Given the description of an element on the screen output the (x, y) to click on. 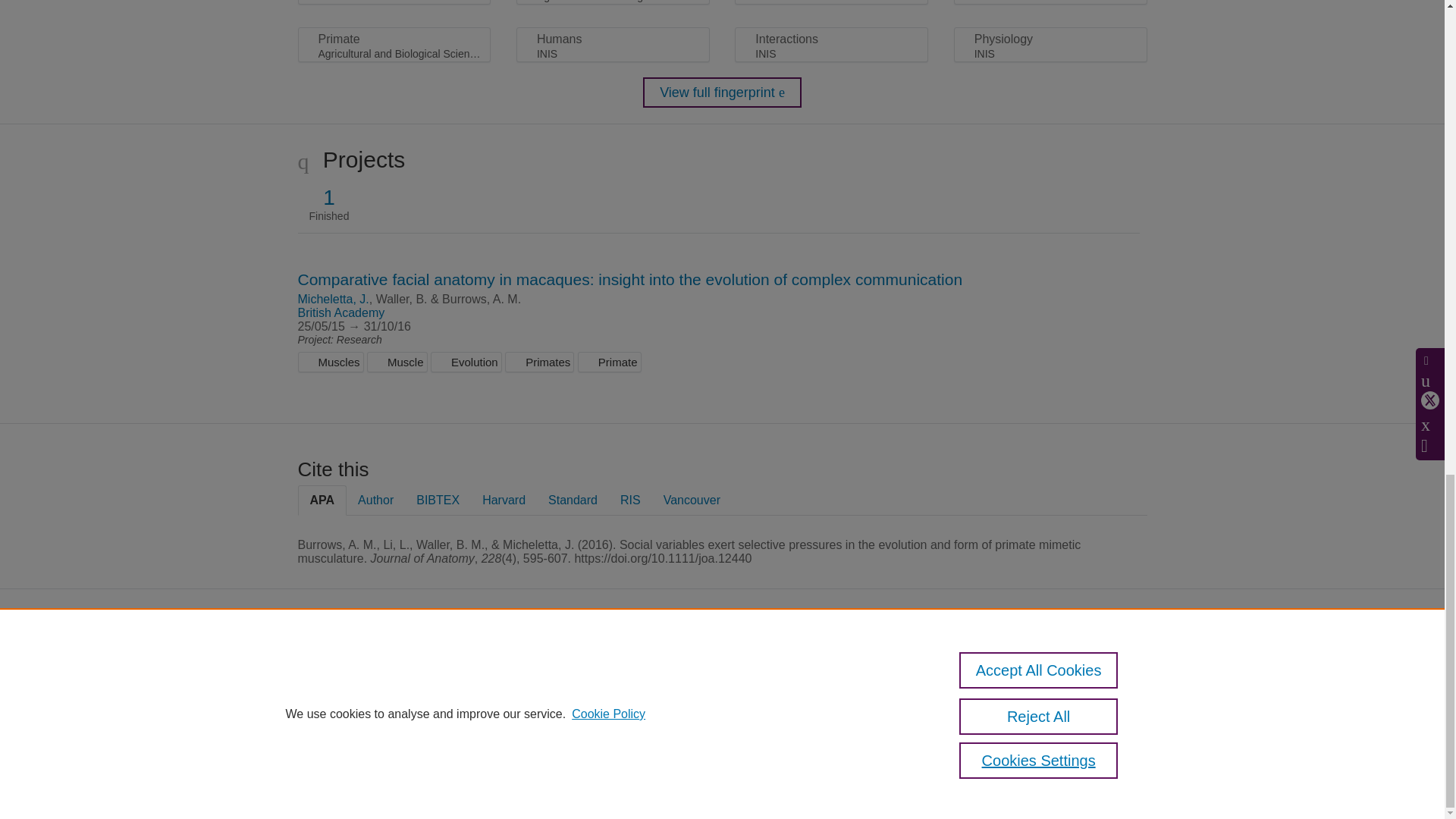
View full fingerprint (722, 91)
1 (328, 197)
